Given the description of an element on the screen output the (x, y) to click on. 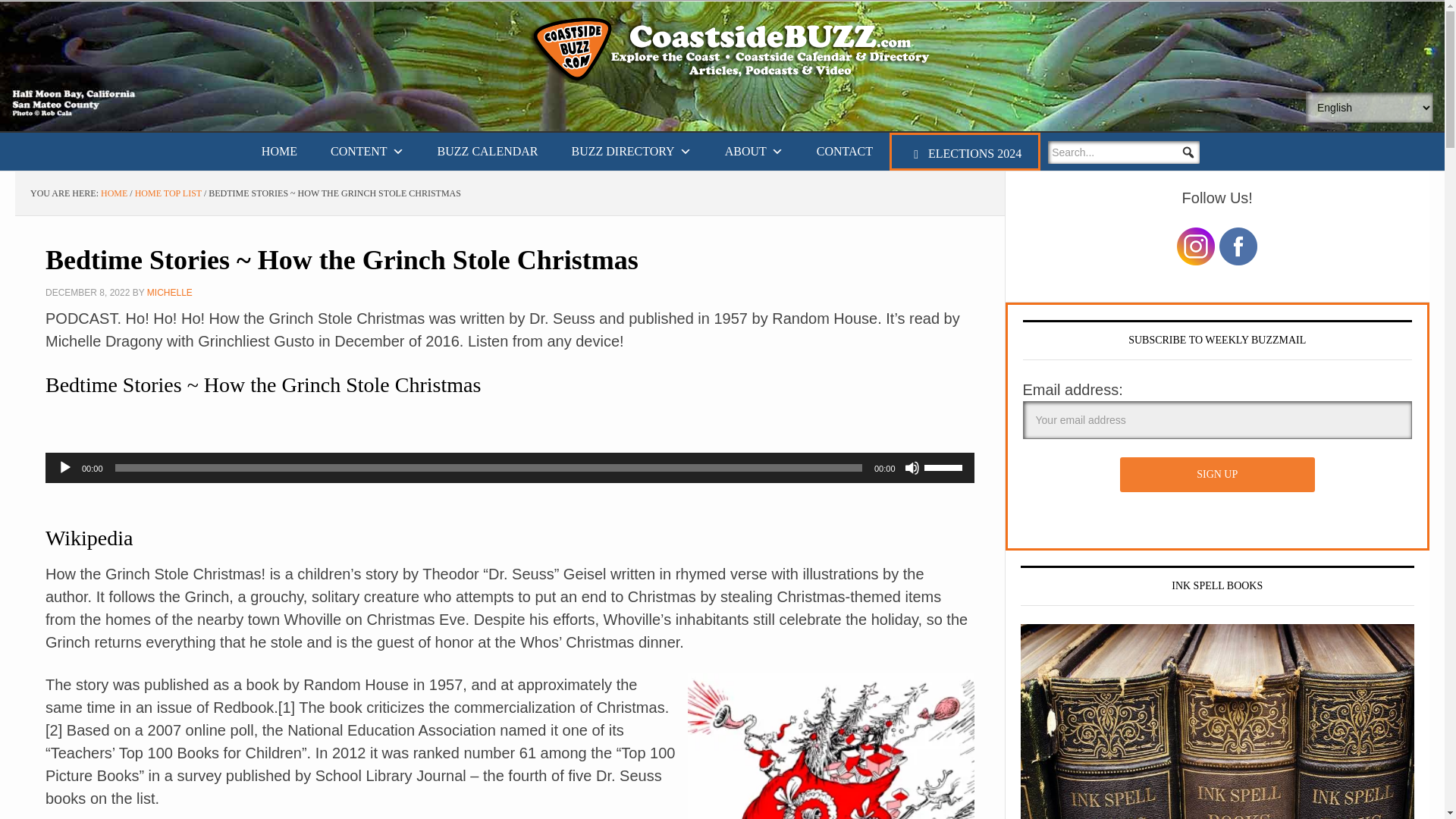
BUZZ DIRECTORY (630, 151)
Coastside Buzz (737, 50)
CONTENT (367, 151)
HOME (279, 151)
Sign up (1216, 474)
Mute (911, 467)
BUZZ CALENDAR (487, 151)
Play (65, 467)
